Given the description of an element on the screen output the (x, y) to click on. 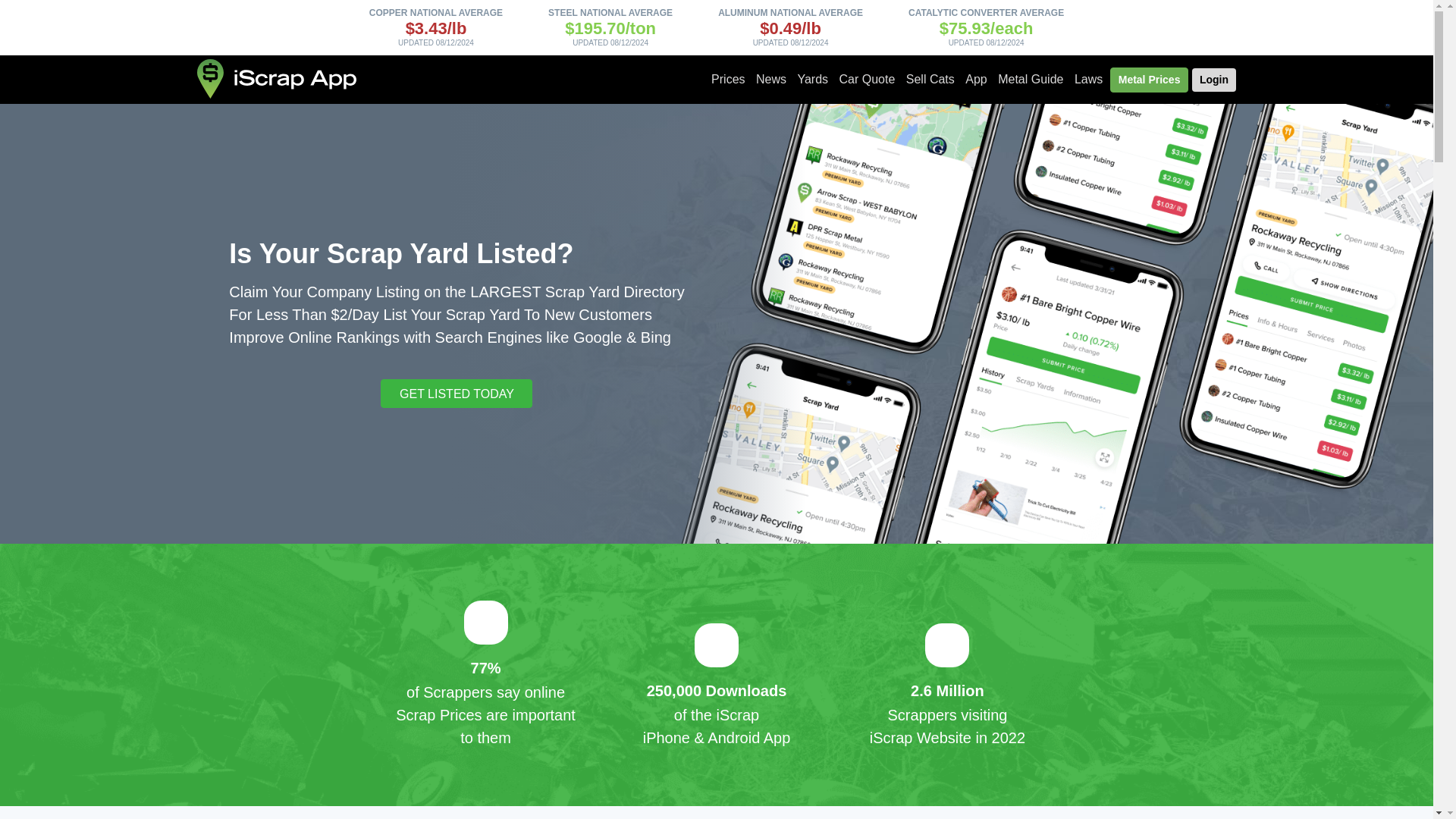
GET LISTED TODAY (456, 393)
Car Quote (867, 79)
Metal Prices (1149, 79)
Sell Cats (930, 79)
ALUMINUM NATIONAL AVERAGE (790, 12)
STEEL NATIONAL AVERAGE (610, 12)
COPPER NATIONAL AVERAGE (435, 12)
Metal Guide (1030, 79)
Login (1214, 79)
CATALYTIC CONVERTER AVERAGE (986, 12)
